Given the description of an element on the screen output the (x, y) to click on. 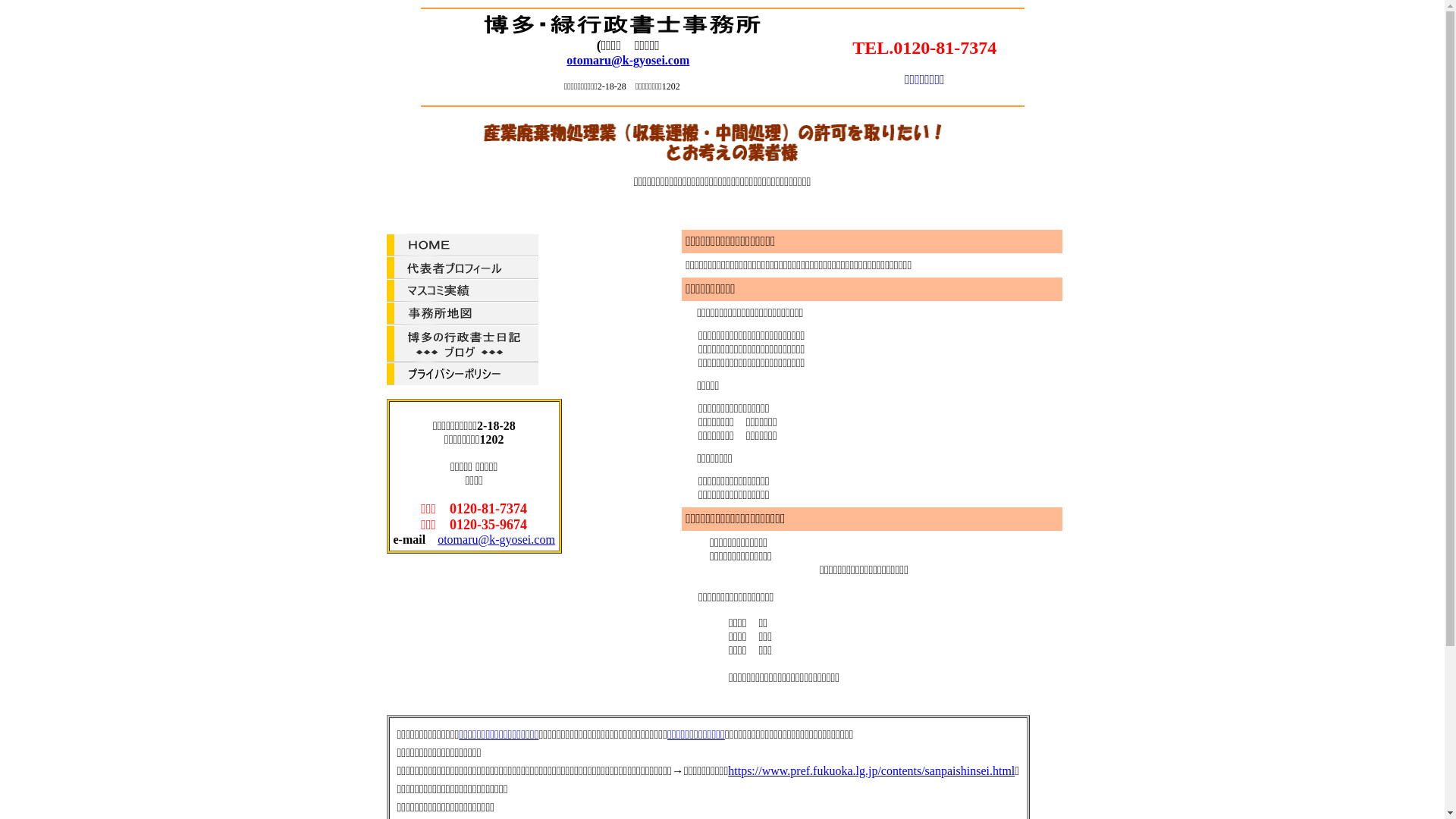
otomaru@k-gyosei.com Element type: text (496, 539)
https://www.pref.fukuoka.lg.jp/contents/sanpaishinsei.html Element type: text (871, 770)
otomaru@k-gyosei.com Element type: text (627, 59)
